Given the description of an element on the screen output the (x, y) to click on. 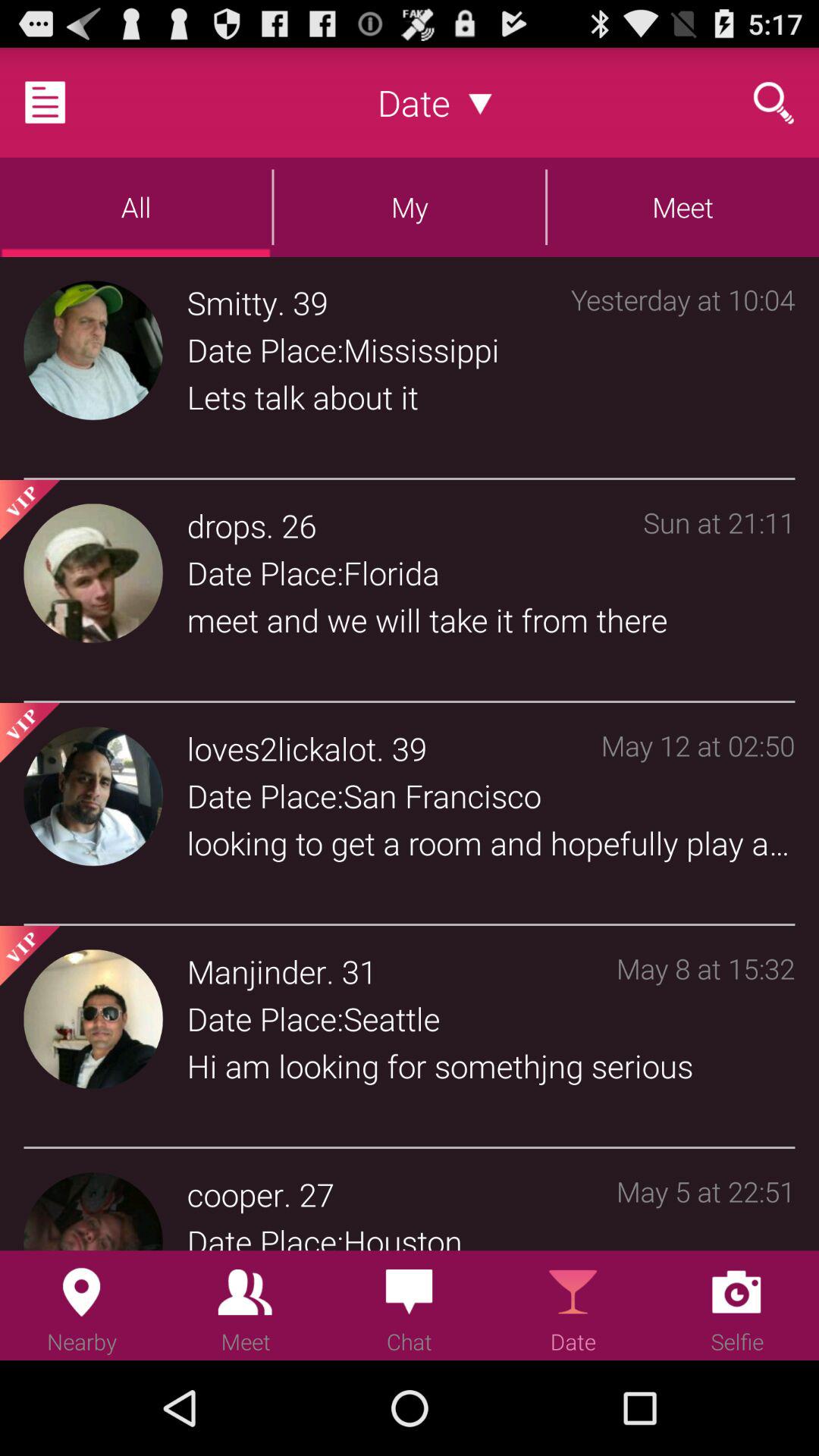
press icon next to .  icon (256, 971)
